Given the description of an element on the screen output the (x, y) to click on. 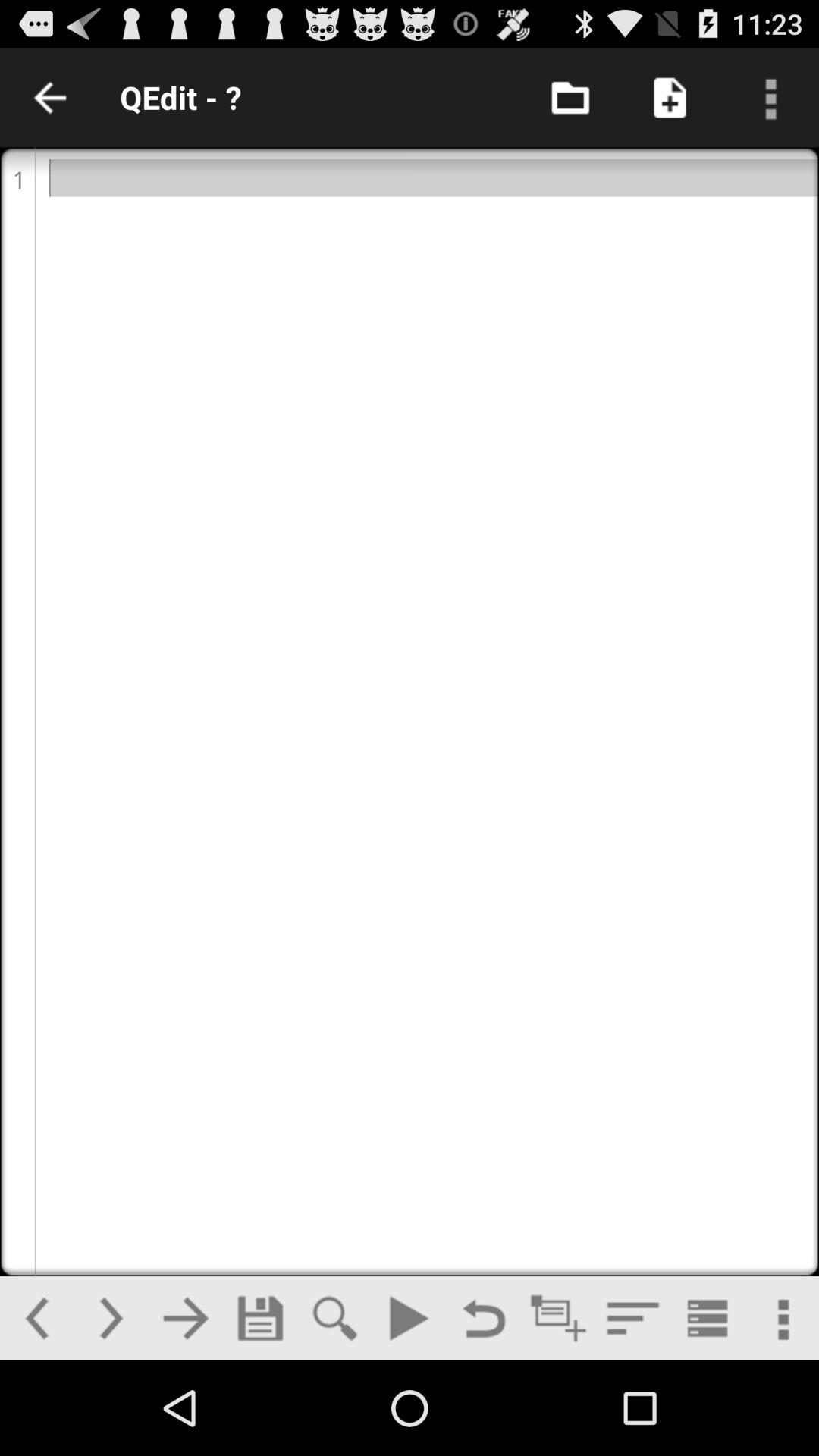
go to in box (569, 97)
